Given the description of an element on the screen output the (x, y) to click on. 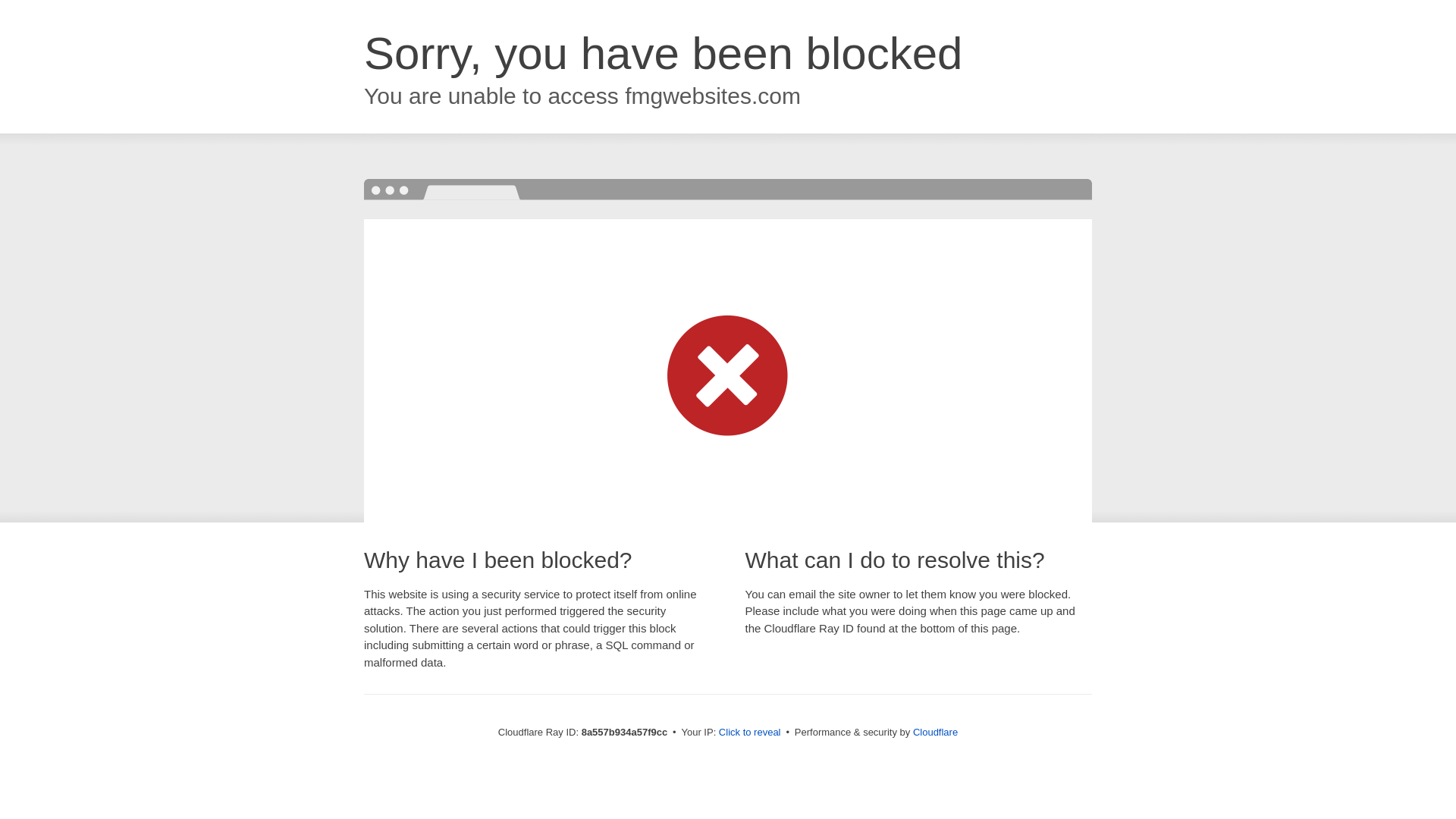
Cloudflare (935, 731)
Click to reveal (749, 732)
